Given the description of an element on the screen output the (x, y) to click on. 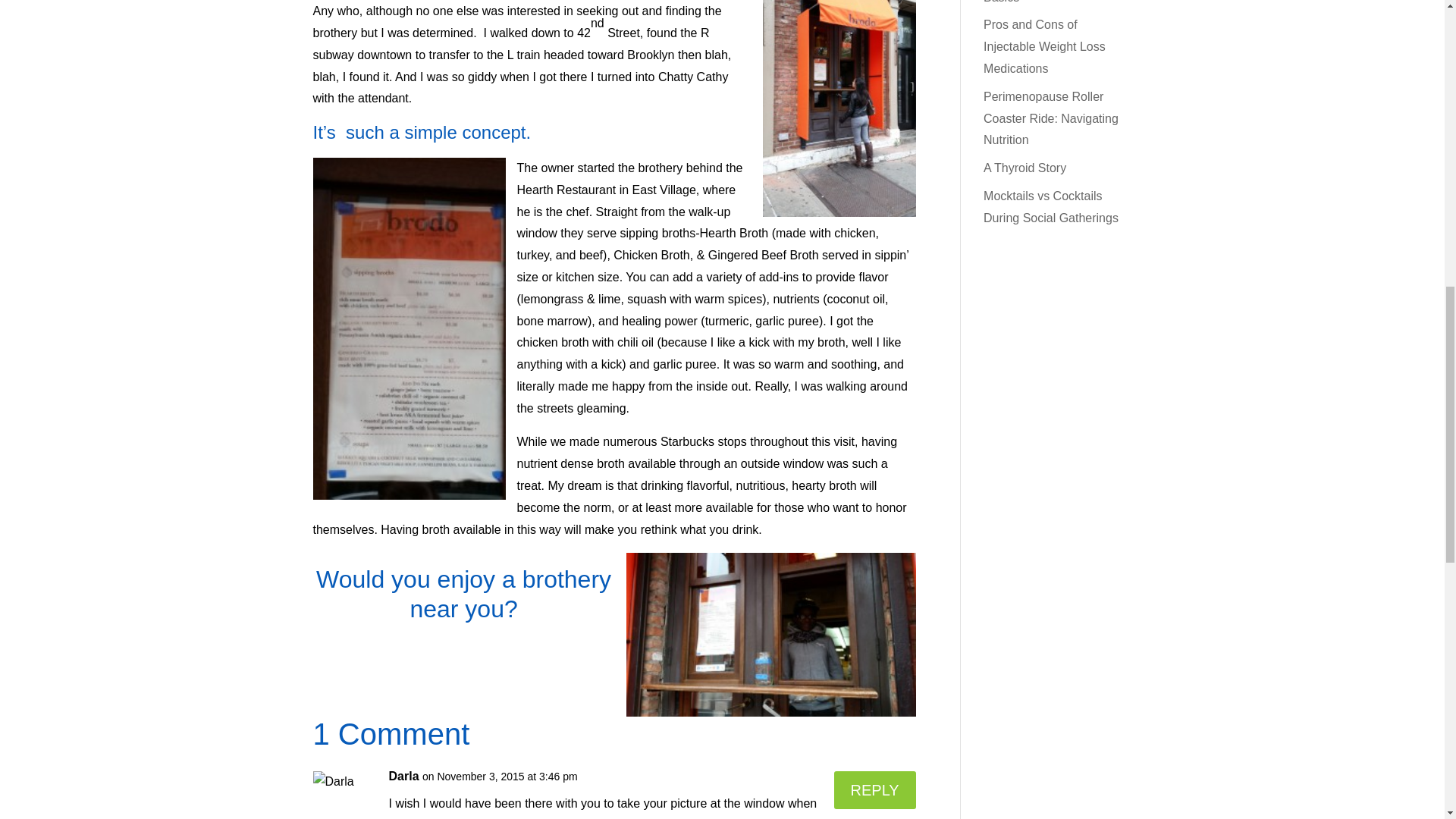
REPLY (874, 790)
